Given the description of an element on the screen output the (x, y) to click on. 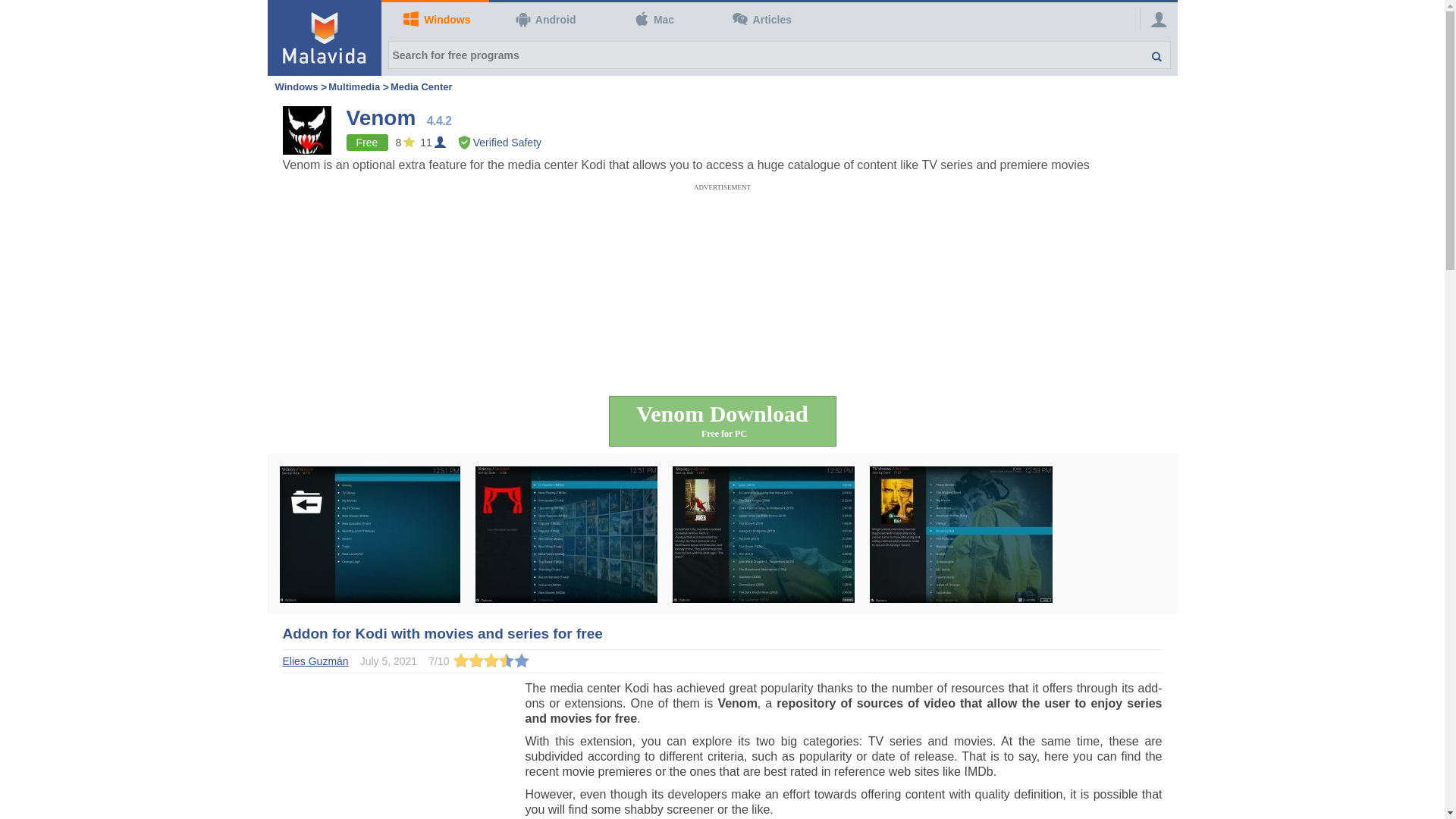
Windows (296, 86)
Download programs free for Mac (651, 19)
Multimedia Software for Windows (354, 86)
Download programs free for Windows (434, 19)
Venom image 2  (565, 534)
Mac (651, 19)
Download programs free for Android (543, 19)
Venom image 3  (762, 534)
3rd party ad content (721, 224)
Windows (434, 19)
